Given the description of an element on the screen output the (x, y) to click on. 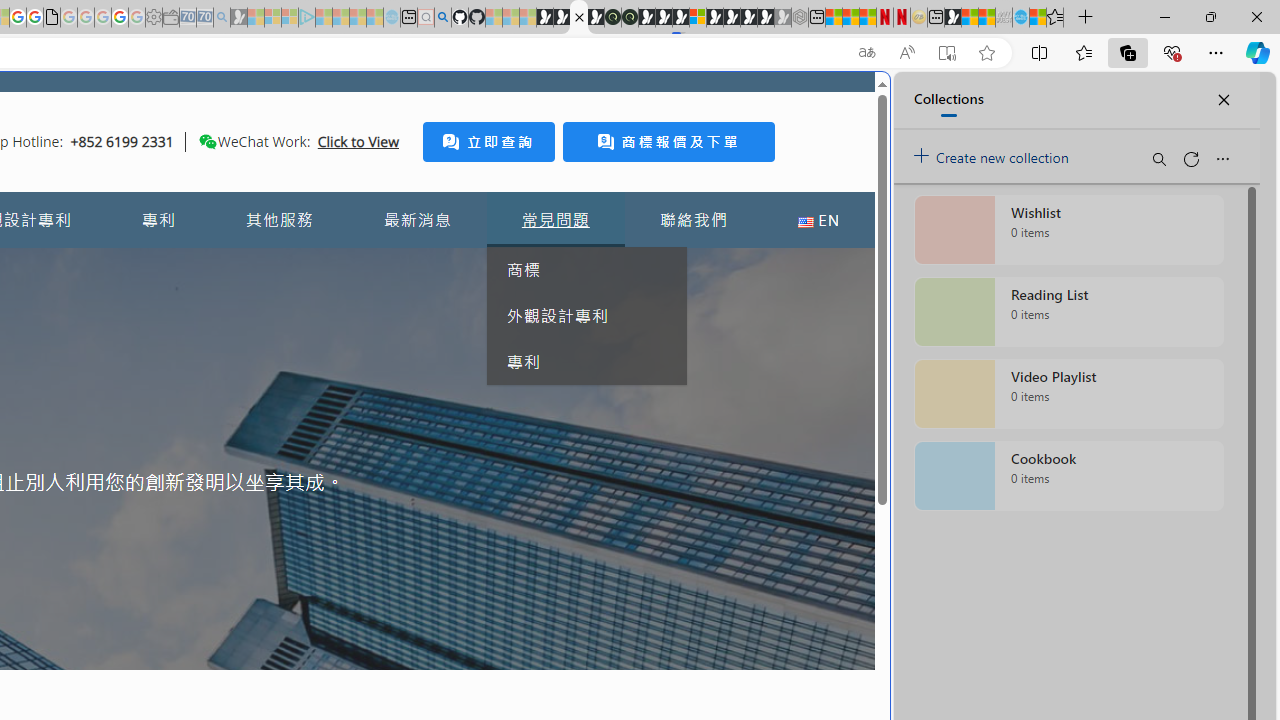
Microsoft Start Gaming - Sleeping (238, 17)
Services - Maintenance | Sky Blue Bikes - Sky Blue Bikes (1020, 17)
EN (818, 220)
